Given the description of an element on the screen output the (x, y) to click on. 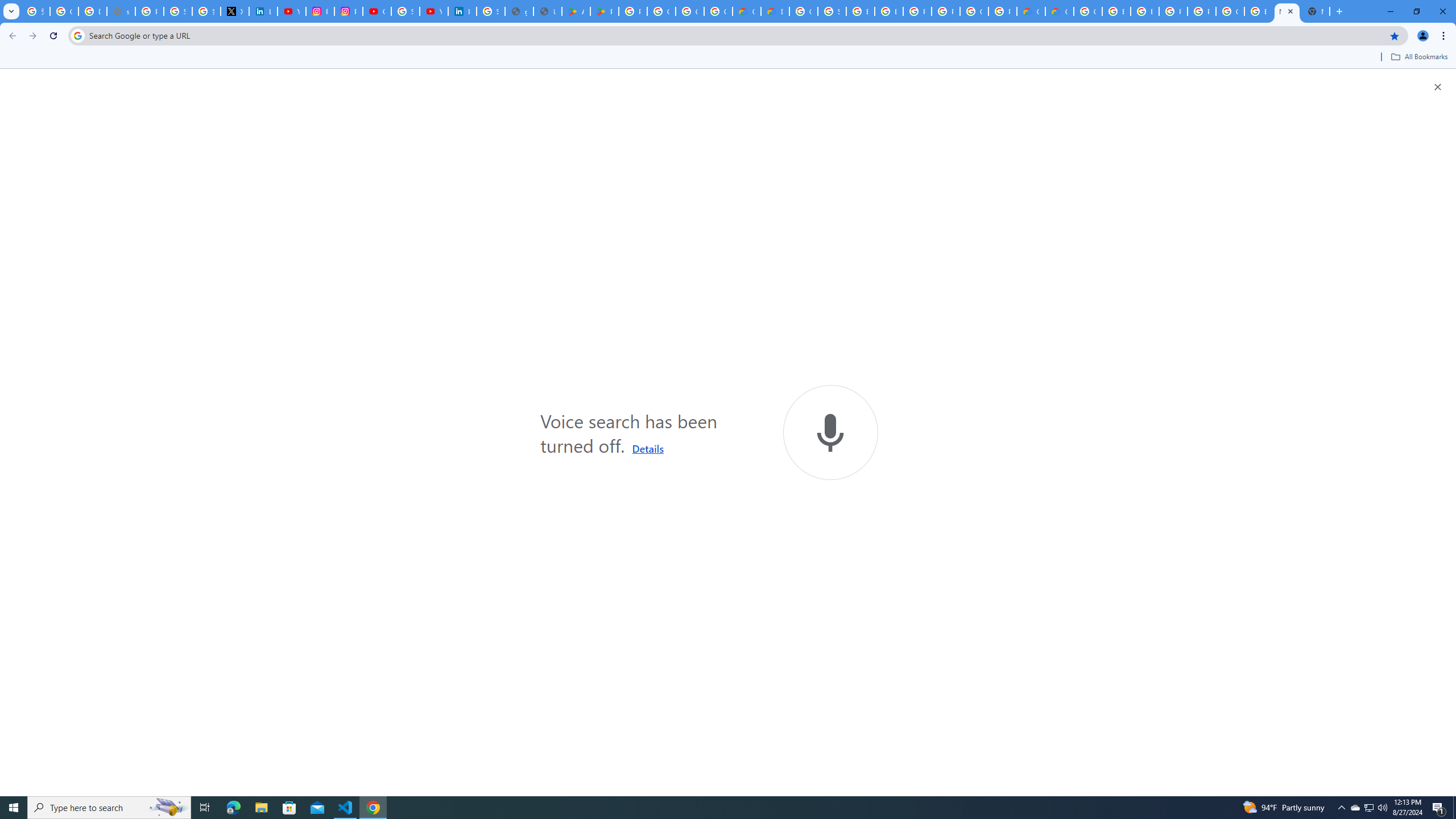
Privacy Help Center - Policies Help (148, 11)
Sign in - Google Accounts (405, 11)
Android Apps on Google Play (575, 11)
Sign in - Google Accounts (831, 11)
Learn more about using a microphone (647, 448)
User Details (547, 11)
